Given the description of an element on the screen output the (x, y) to click on. 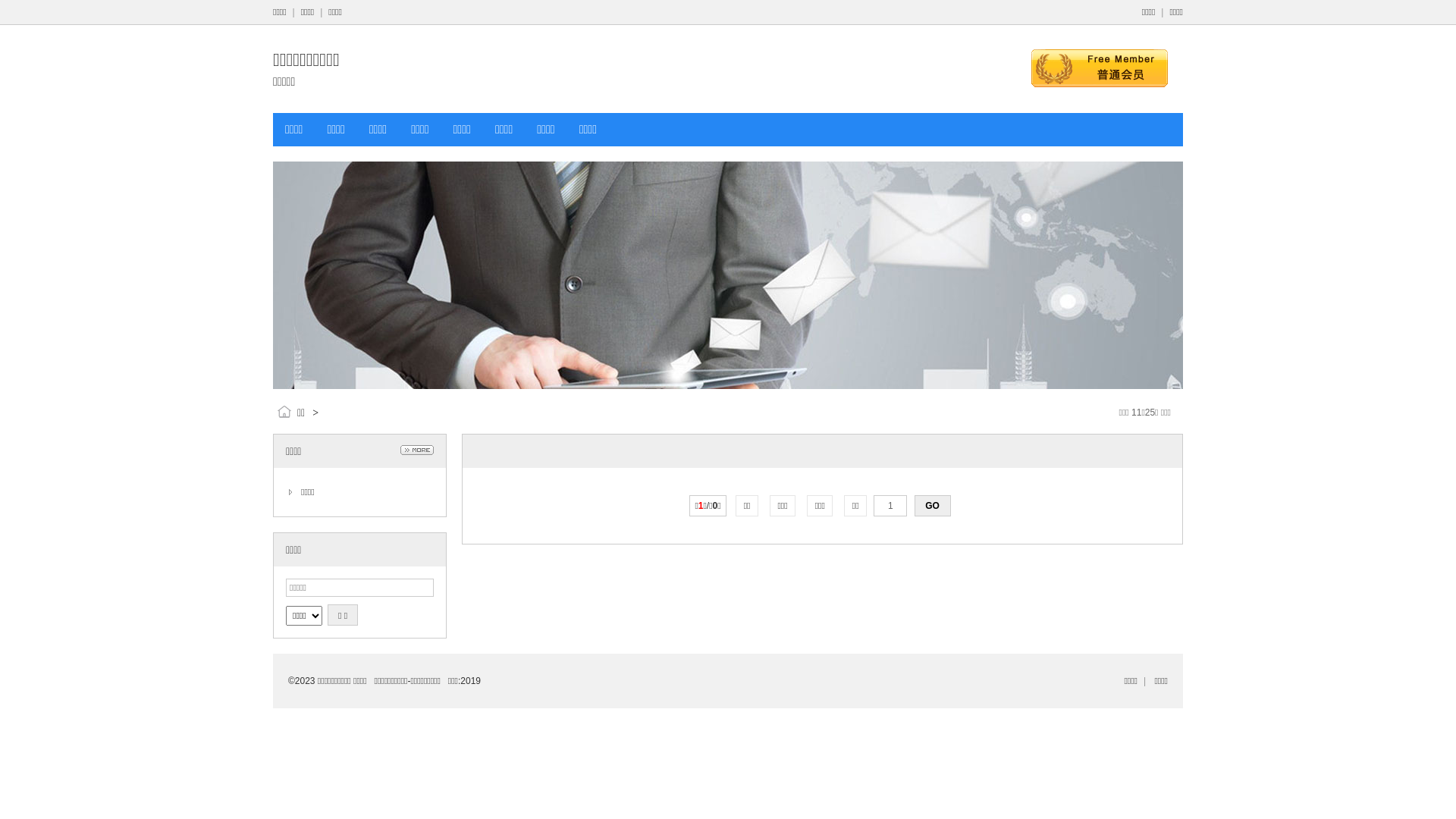
GO Element type: text (932, 505)
